Given the description of an element on the screen output the (x, y) to click on. 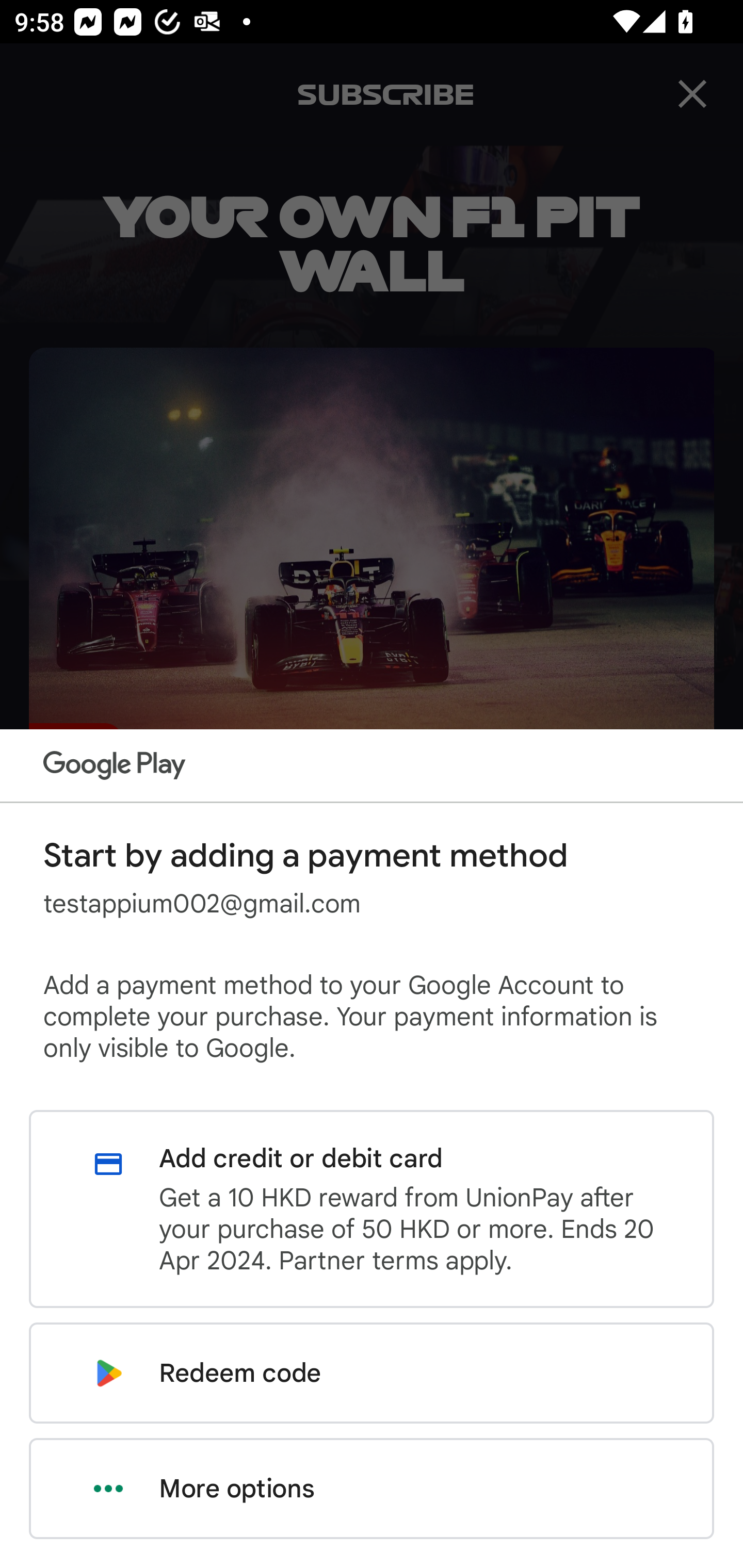
Redeem code (371, 1372)
More options (371, 1488)
